Given the description of an element on the screen output the (x, y) to click on. 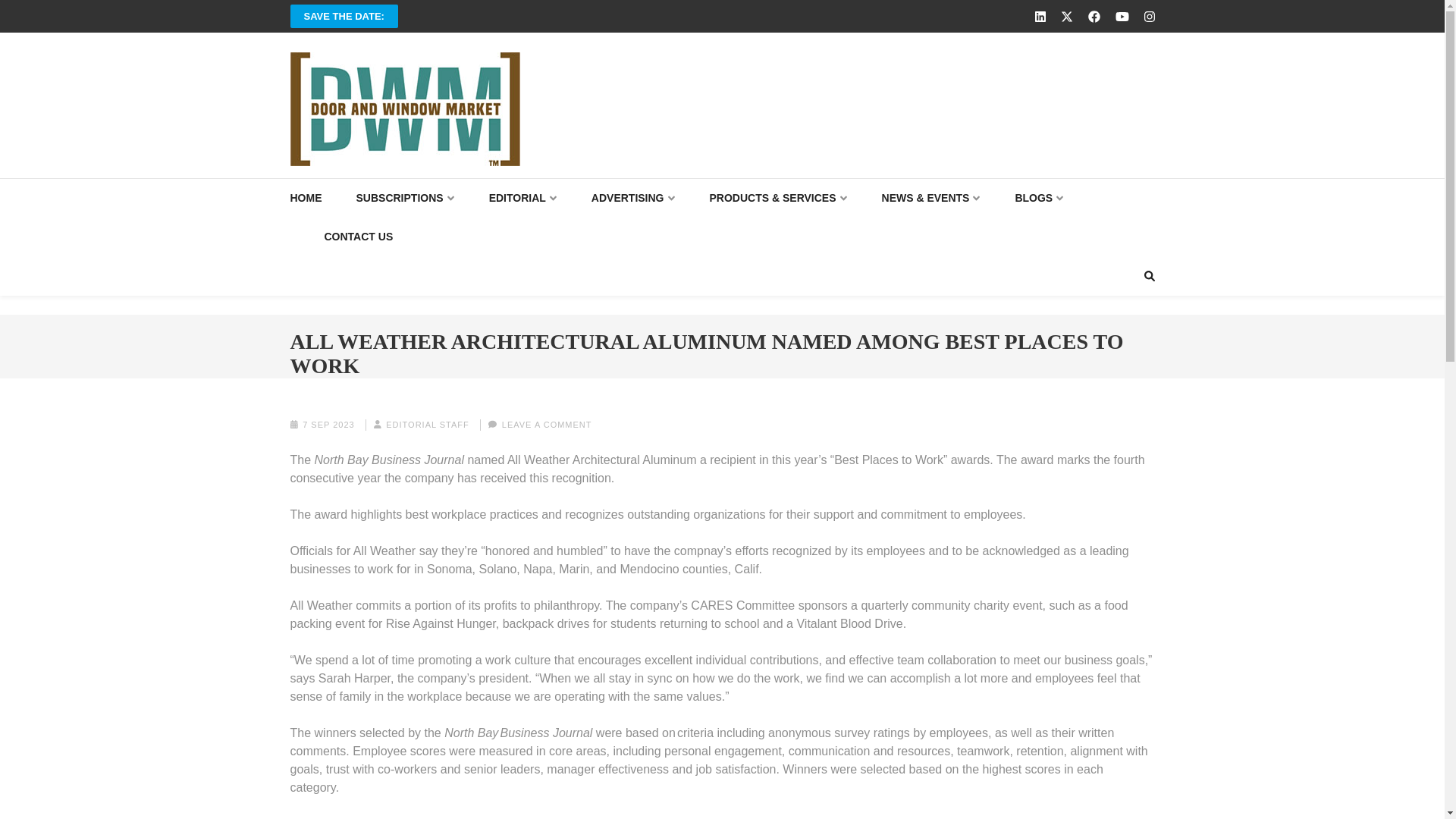
DOOR AND WINDOW MARKET MAGAZINE (566, 180)
BLOGS (1039, 198)
EDITORIAL (523, 198)
SAVE THE DATE: (343, 15)
ADVERTISING (633, 198)
SUBSCRIPTIONS (405, 198)
